Given the description of an element on the screen output the (x, y) to click on. 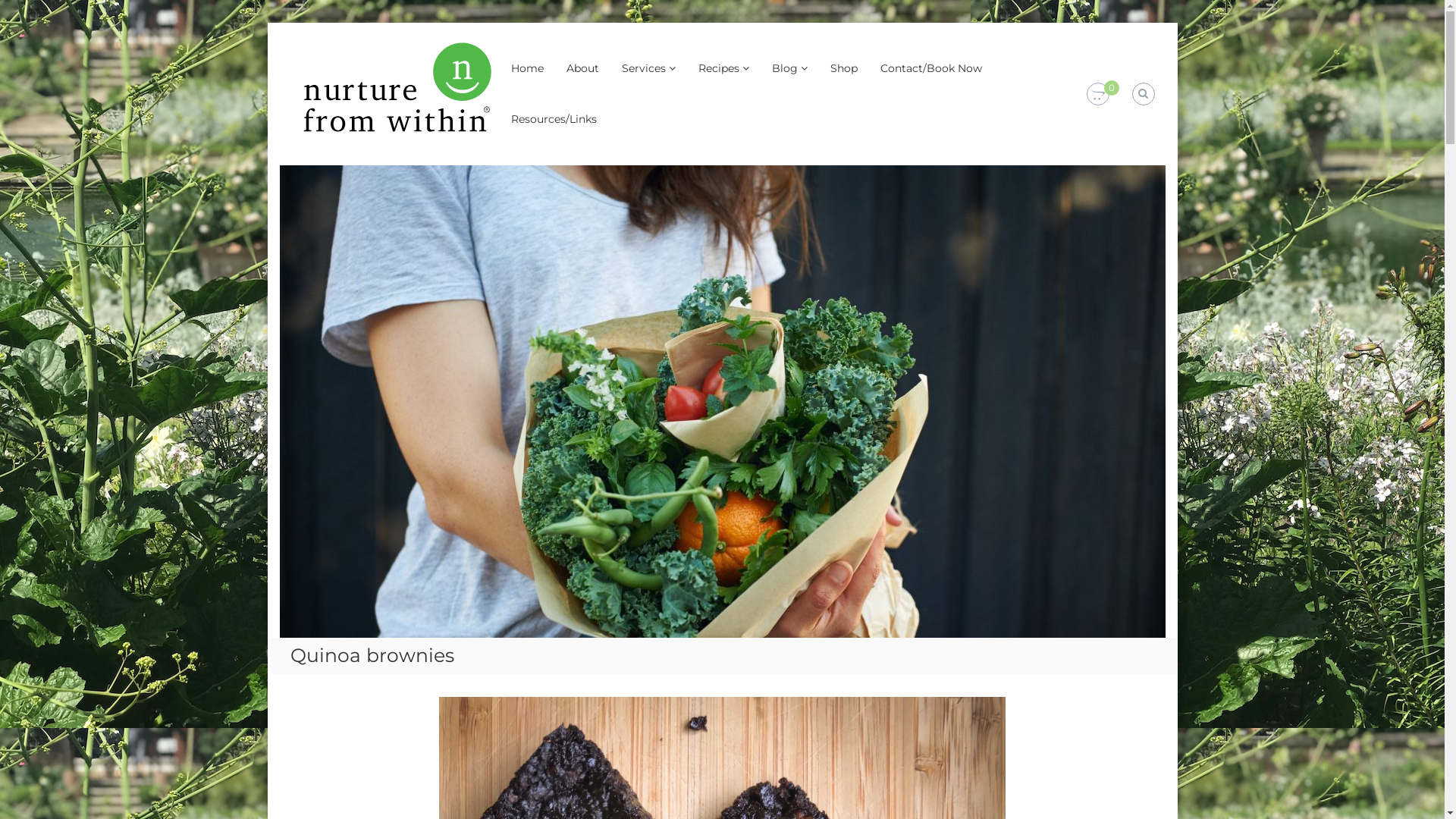
Recipes Element type: text (717, 68)
Shop Element type: text (842, 68)
Skip to content Element type: text (266, 21)
Services Element type: text (643, 68)
Blog Element type: text (784, 68)
About Element type: text (581, 68)
0 Element type: text (1097, 94)
Resources/Links Element type: text (553, 118)
Home Element type: text (527, 68)
Contact/Book Now Element type: text (930, 68)
